Given the description of an element on the screen output the (x, y) to click on. 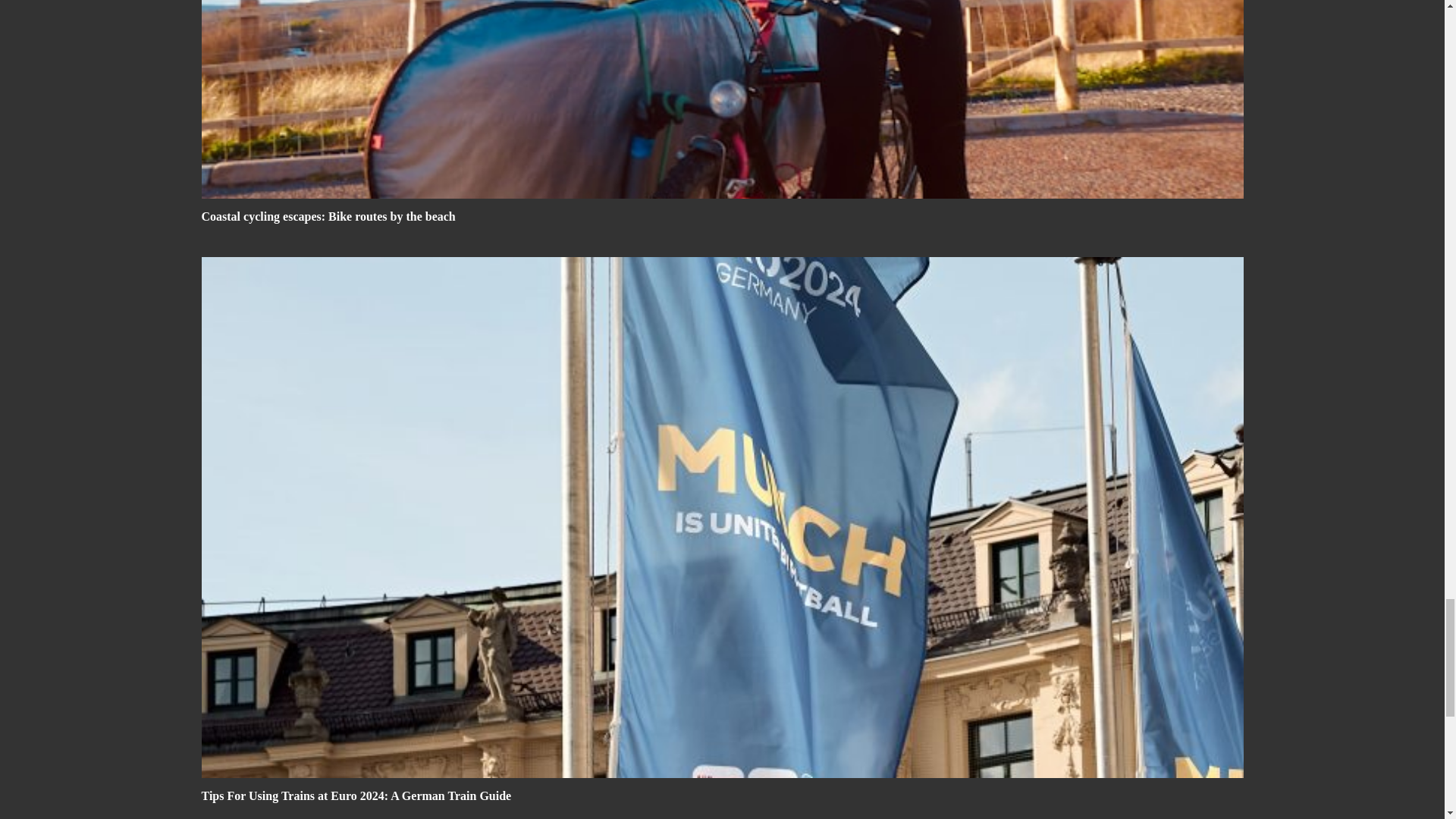
Coastal cycling escapes: Bike routes by the beach (328, 215)
